Given the description of an element on the screen output the (x, y) to click on. 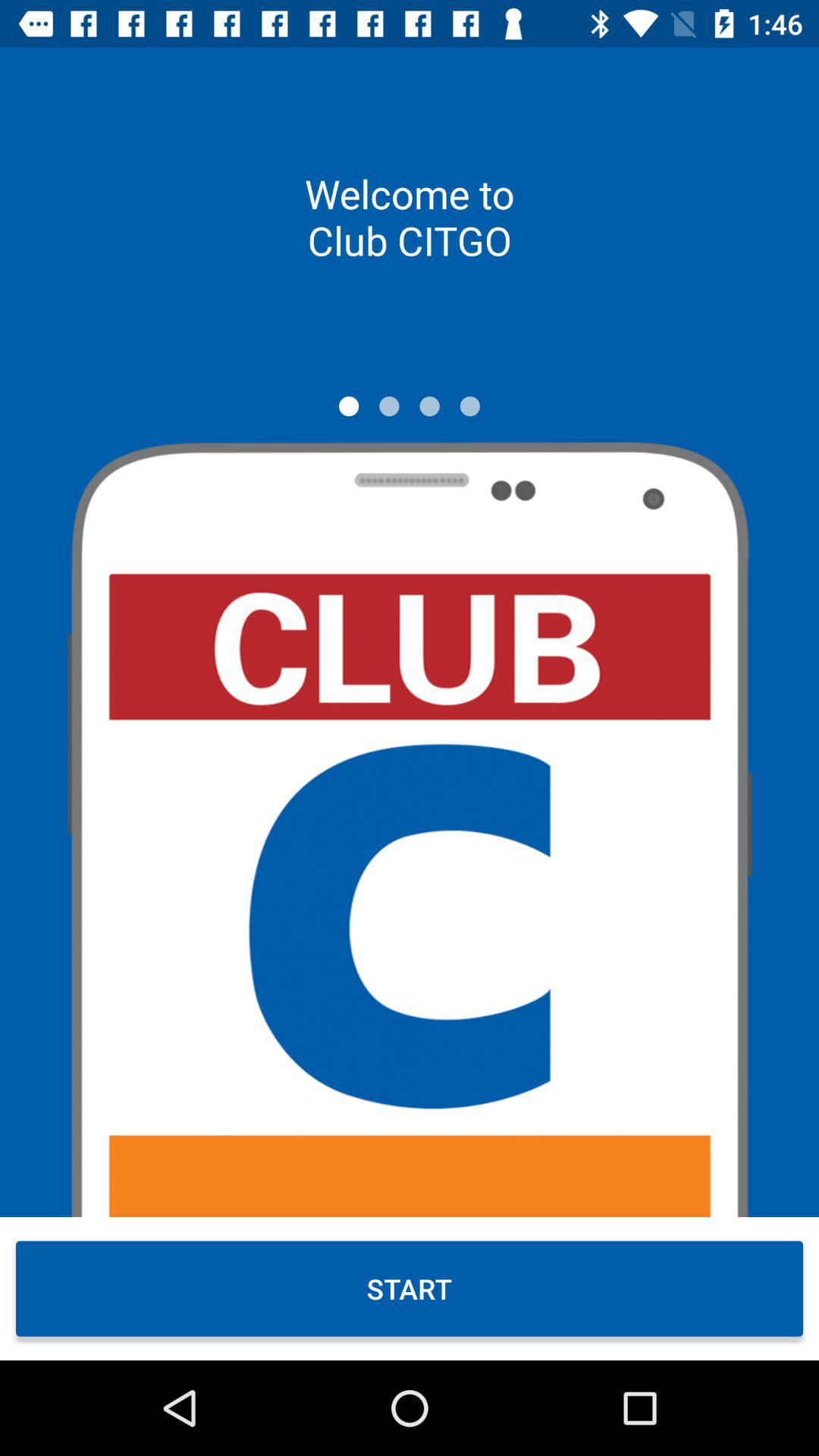
swipe until the start (409, 1288)
